Given the description of an element on the screen output the (x, y) to click on. 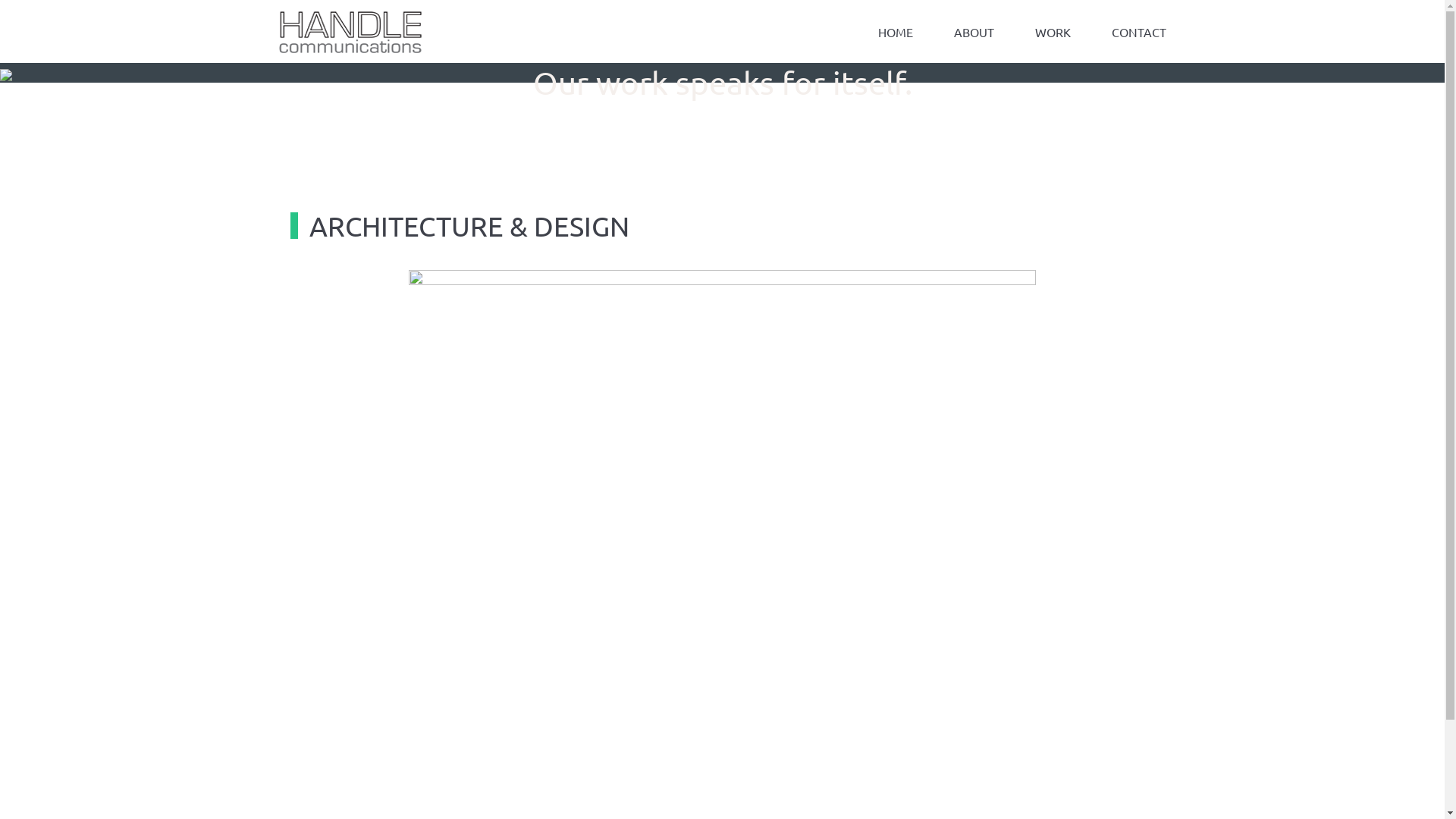
200-105 Element type: text (1048, 91)
300-101 Element type: text (426, 91)
210-065 Element type: text (1250, 91)
HOME Element type: text (894, 31)
CONTACT Element type: text (1127, 31)
1Z0-144 Element type: text (1313, 91)
200-310 Element type: text (737, 91)
100-105 Element type: text (364, 91)
300-075 Element type: text (302, 91)
WORK Element type: text (1052, 31)
ABOUT Element type: text (972, 31)
300-135 Element type: text (799, 91)
300-070 Element type: text (986, 91)
300-320 Element type: text (861, 91)
200-125 Element type: text (27, 91)
300-115 Element type: text (675, 91)
210-060 Element type: text (924, 91)
210-260 Element type: text (488, 91)
